Given the description of an element on the screen output the (x, y) to click on. 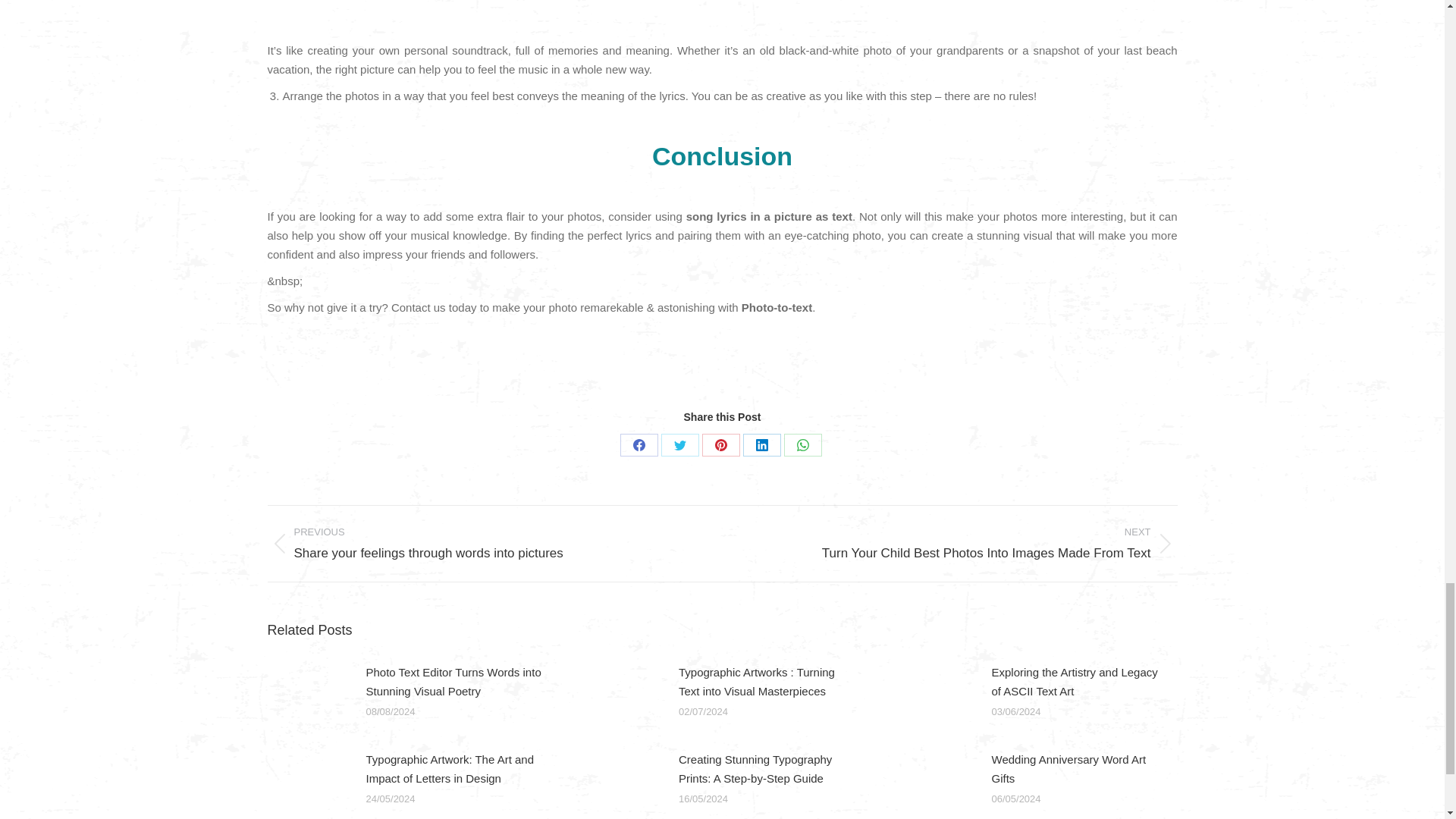
WhatsApp (803, 445)
X (679, 445)
Facebook (639, 445)
LinkedIn (761, 445)
Pinterest (720, 445)
